Given the description of an element on the screen output the (x, y) to click on. 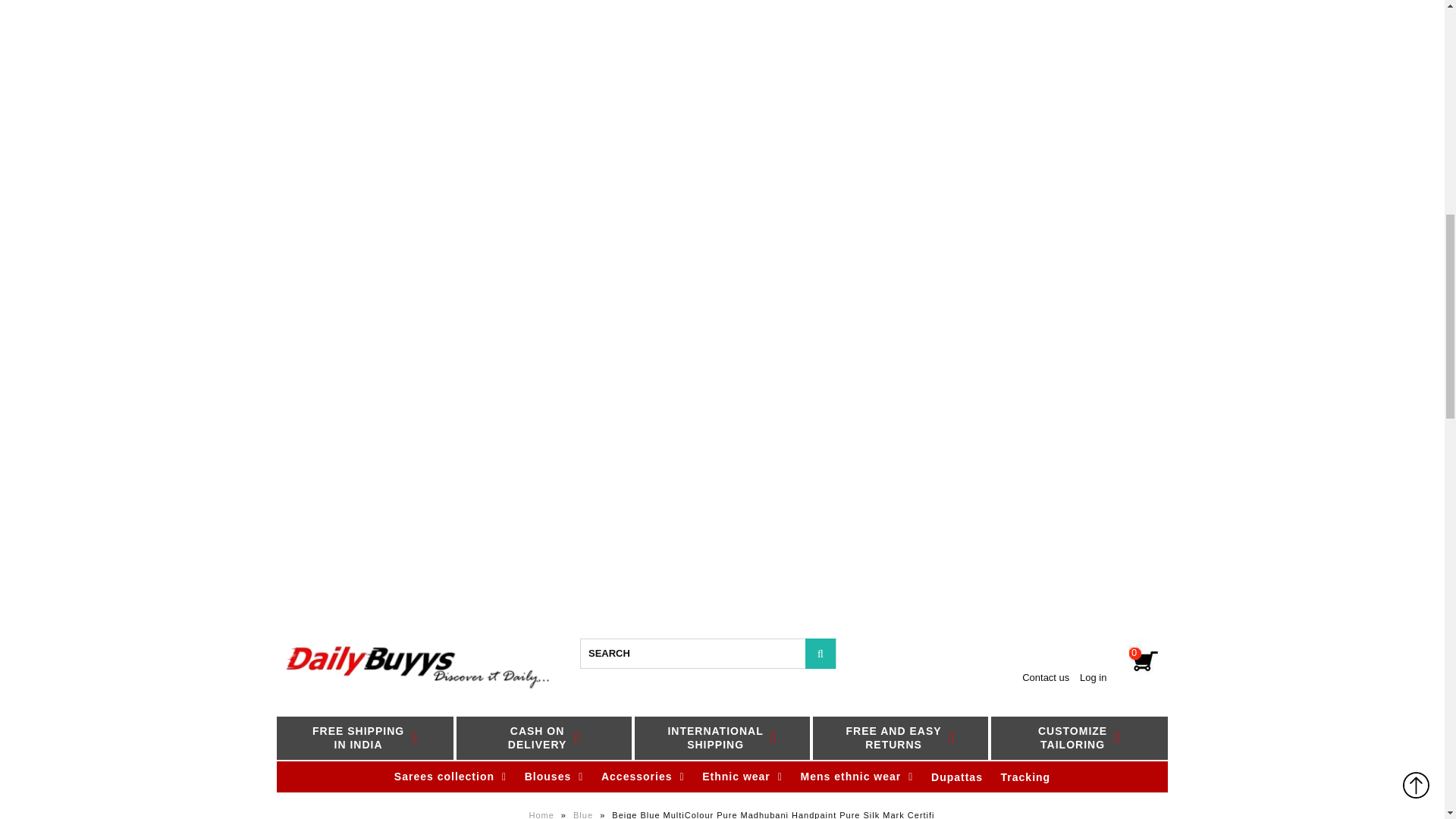
Contact us (364, 737)
Sarees collection (1045, 677)
Home (721, 737)
0 (450, 776)
Log in (542, 814)
